Given the description of an element on the screen output the (x, y) to click on. 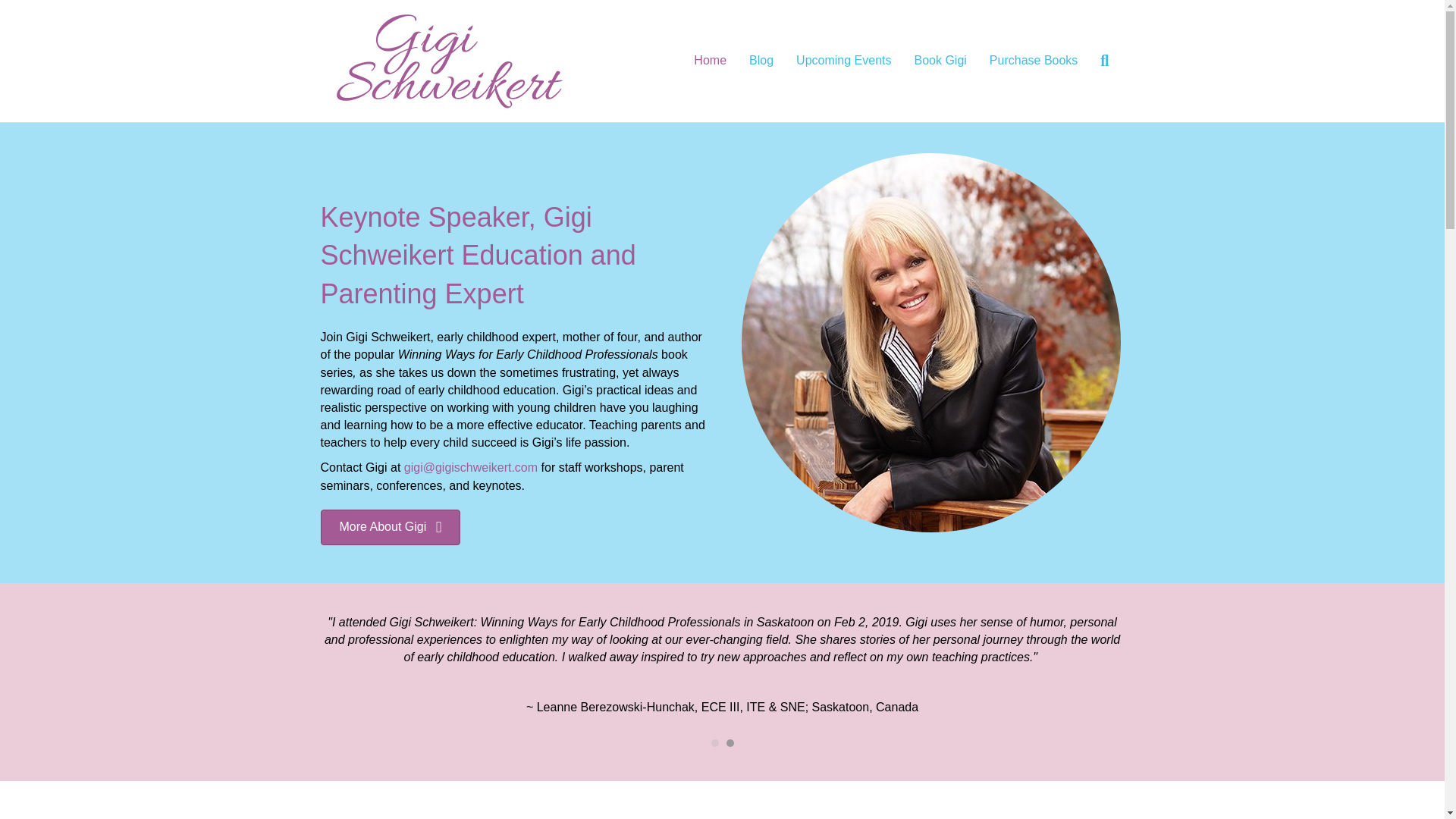
2 (729, 742)
Upcoming Events (843, 60)
1 (715, 742)
Home (710, 60)
Blog (761, 60)
Book Gigi (939, 60)
More About Gigi (390, 527)
Purchase Books (1033, 60)
